Given the description of an element on the screen output the (x, y) to click on. 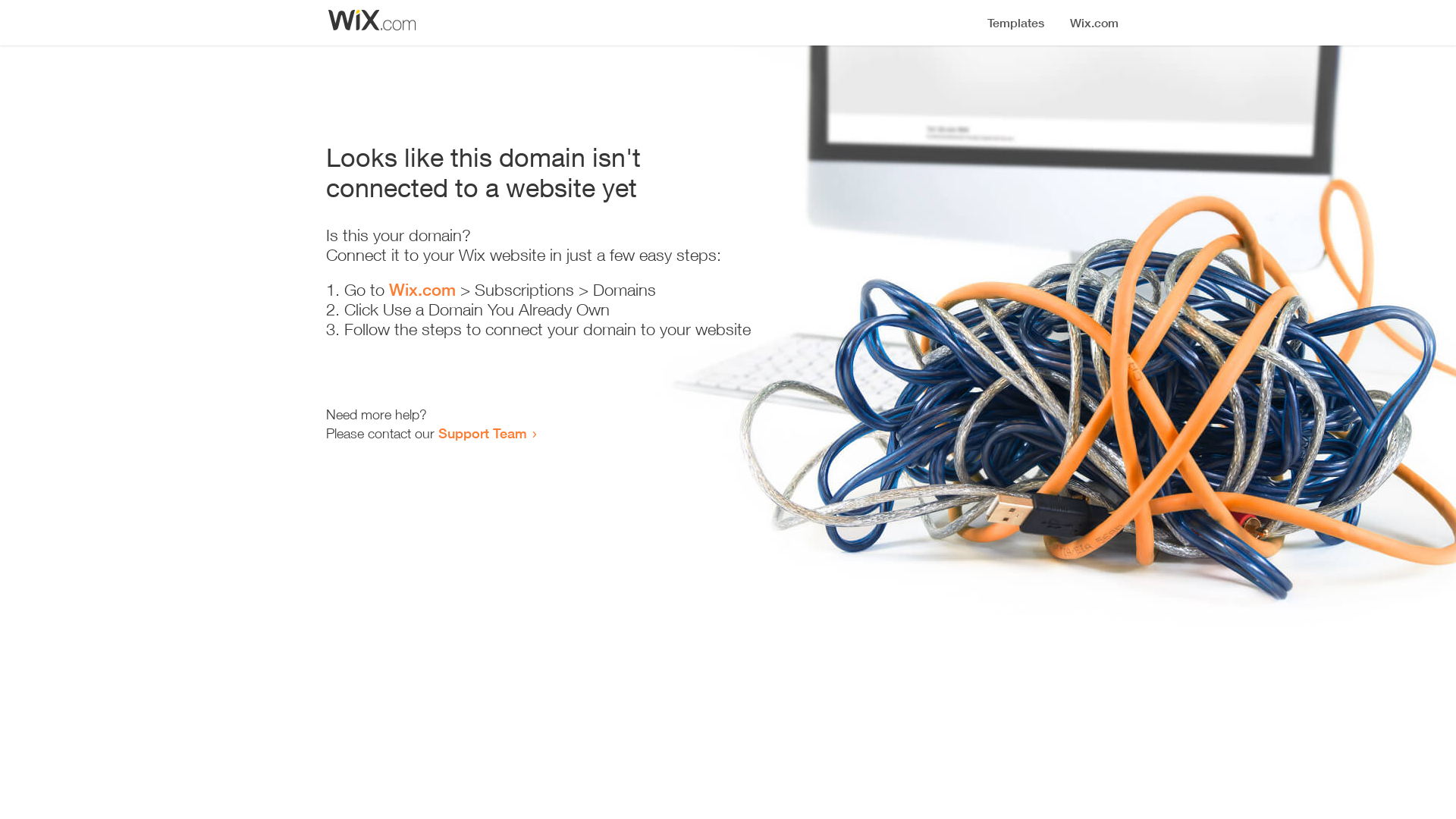
Wix.com Element type: text (422, 289)
Support Team Element type: text (482, 432)
